Given the description of an element on the screen output the (x, y) to click on. 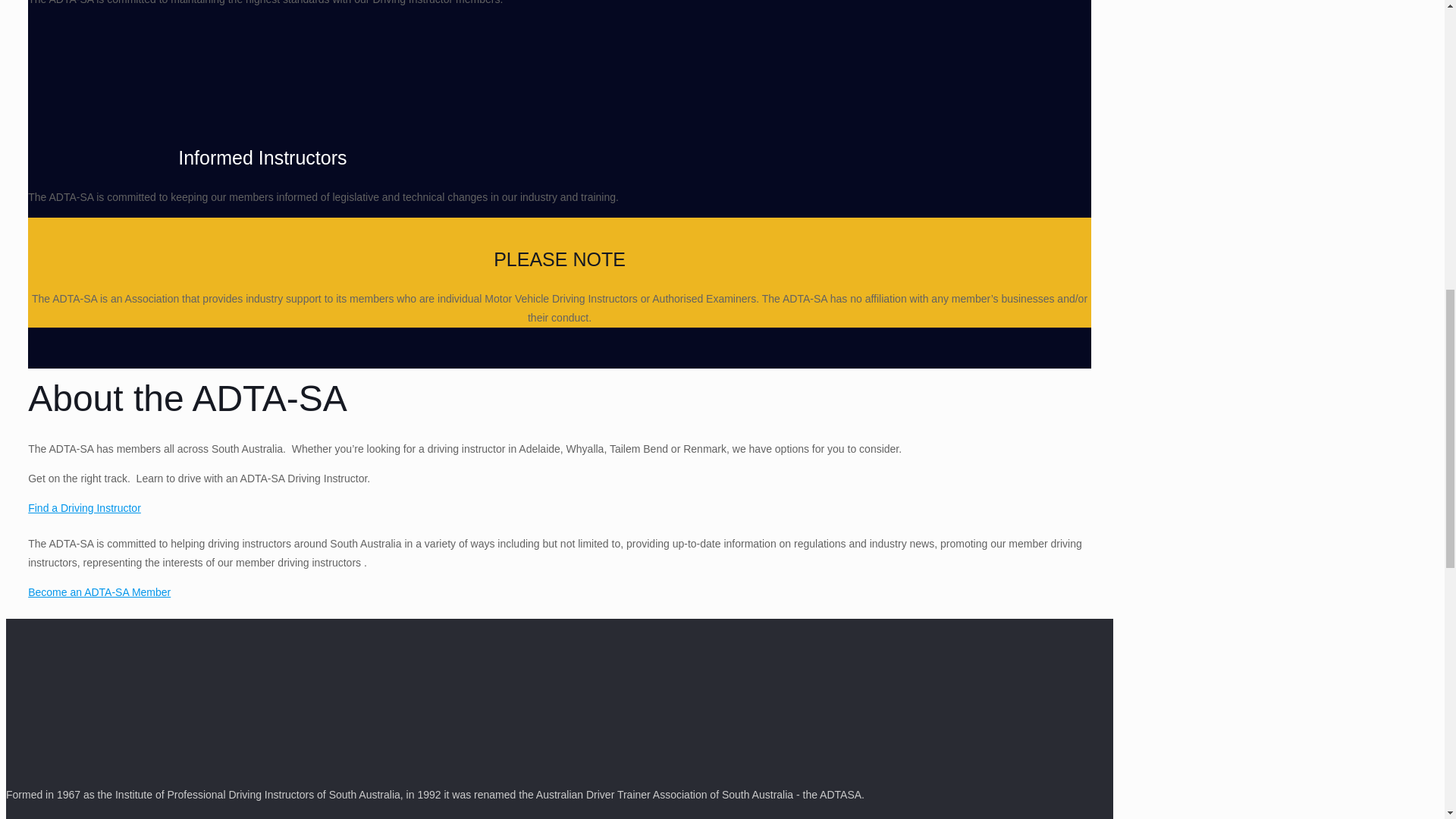
Become an ADTA-SA Member (98, 592)
Find a Driving Instructor (84, 508)
ADTASA Member (98, 592)
